Given the description of an element on the screen output the (x, y) to click on. 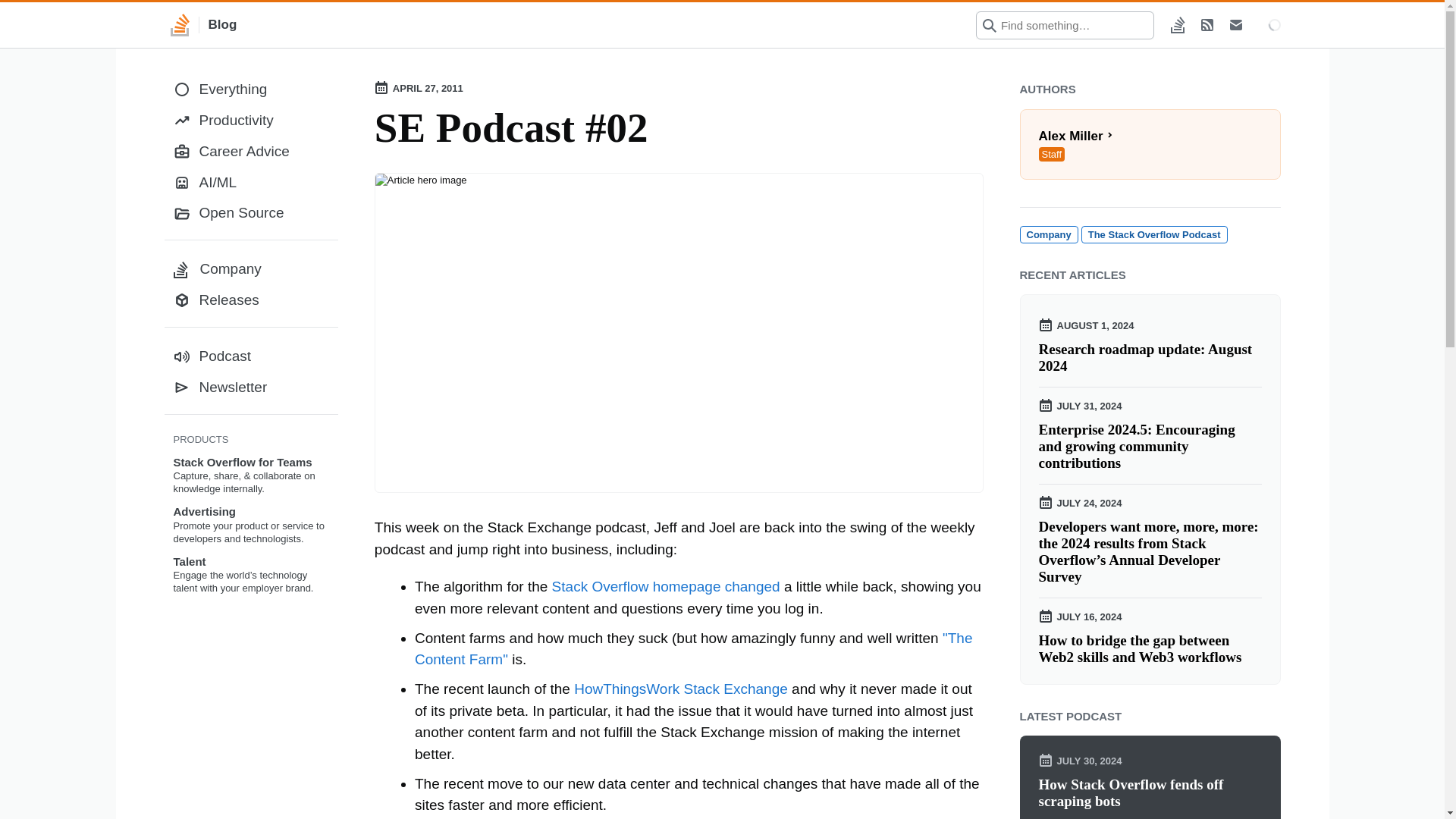
"The Content Farm" (693, 648)
Company (250, 269)
Everything (250, 90)
The Stack Overflow Podcast (1149, 143)
How to bridge the gap between Web2 skills and Web3 workflows (1154, 234)
Stack Overflow homepage changed (1150, 648)
Productivity (665, 586)
Newsletter (250, 121)
Company (250, 387)
Open Source (1048, 234)
How Stack Overflow fends off scraping bots (250, 213)
HowThingsWork Stack Exchange (1150, 792)
